Given the description of an element on the screen output the (x, y) to click on. 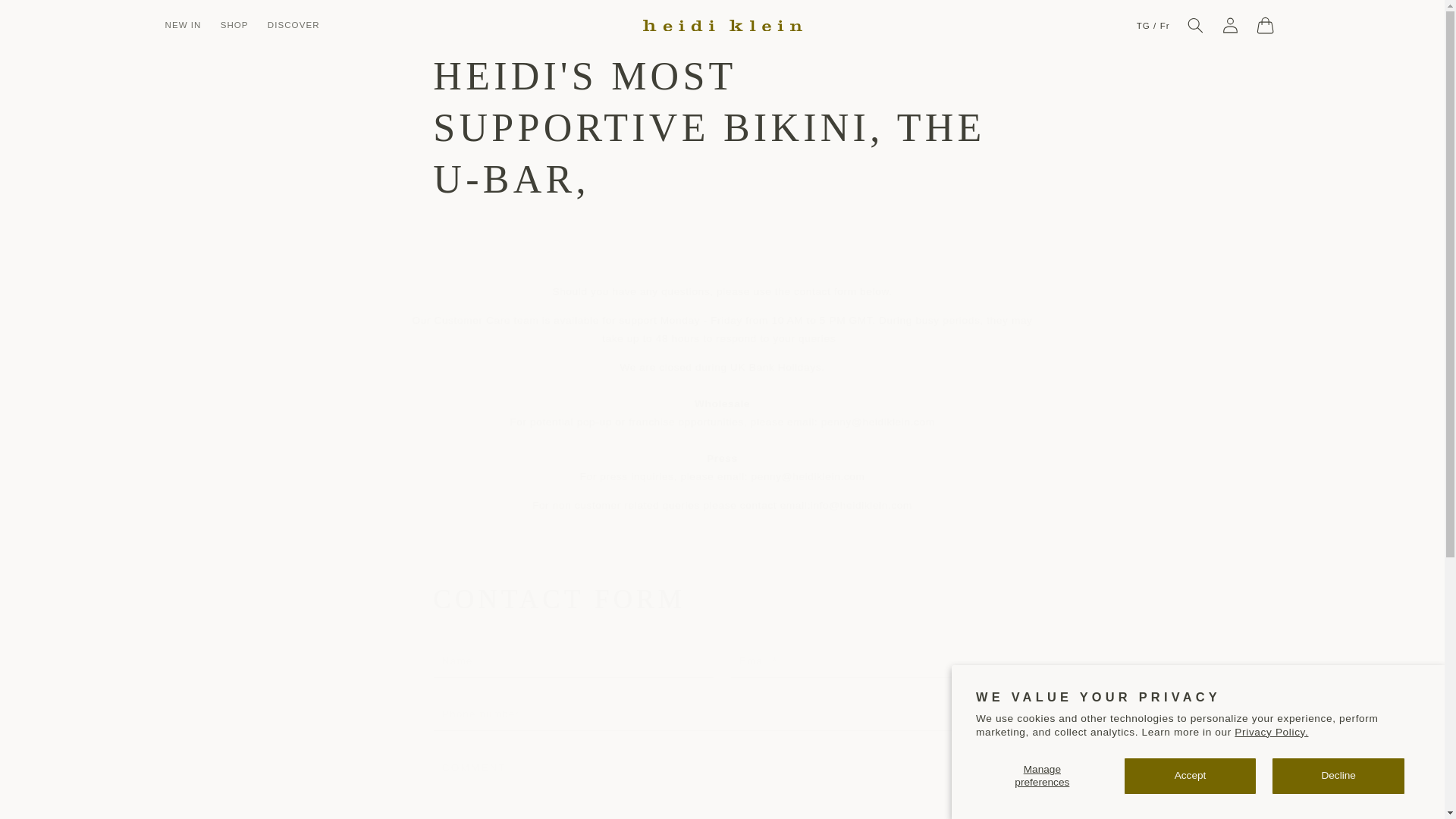
CONTACT FORM (721, 599)
HEIDI'S MOST SUPPORTIVE BIKINI, THE U-BAR, (721, 127)
SKIP TO CONTENT (48, 18)
Decline (1338, 775)
Privacy Policy. (1270, 731)
Accept (1190, 775)
Manage preferences (1041, 775)
